Given the description of an element on the screen output the (x, y) to click on. 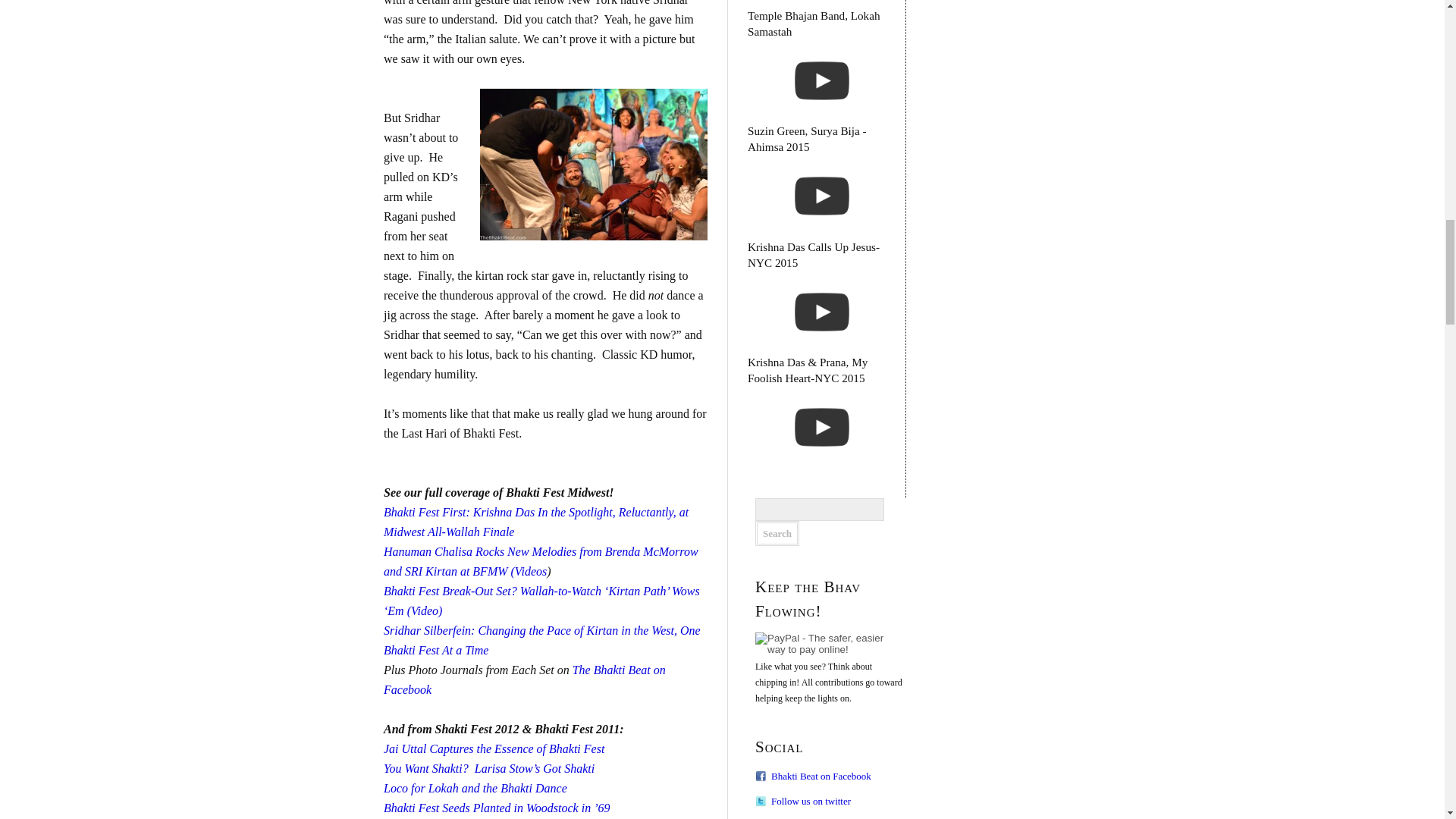
Jai Uttal Captures the Essence of Bhakti Fest (494, 748)
Jai Uttal Captures the Essence of Bhakti Fest (494, 748)
Loco for Lokah and the Bhakti Dance (475, 788)
Search (777, 533)
Loco for Lokah and the Bhakti Dance (475, 788)
Bhakti Fest Midwest Day 3-slr 719 (593, 164)
The Bhakti Beat on Facebook (524, 679)
